Given the description of an element on the screen output the (x, y) to click on. 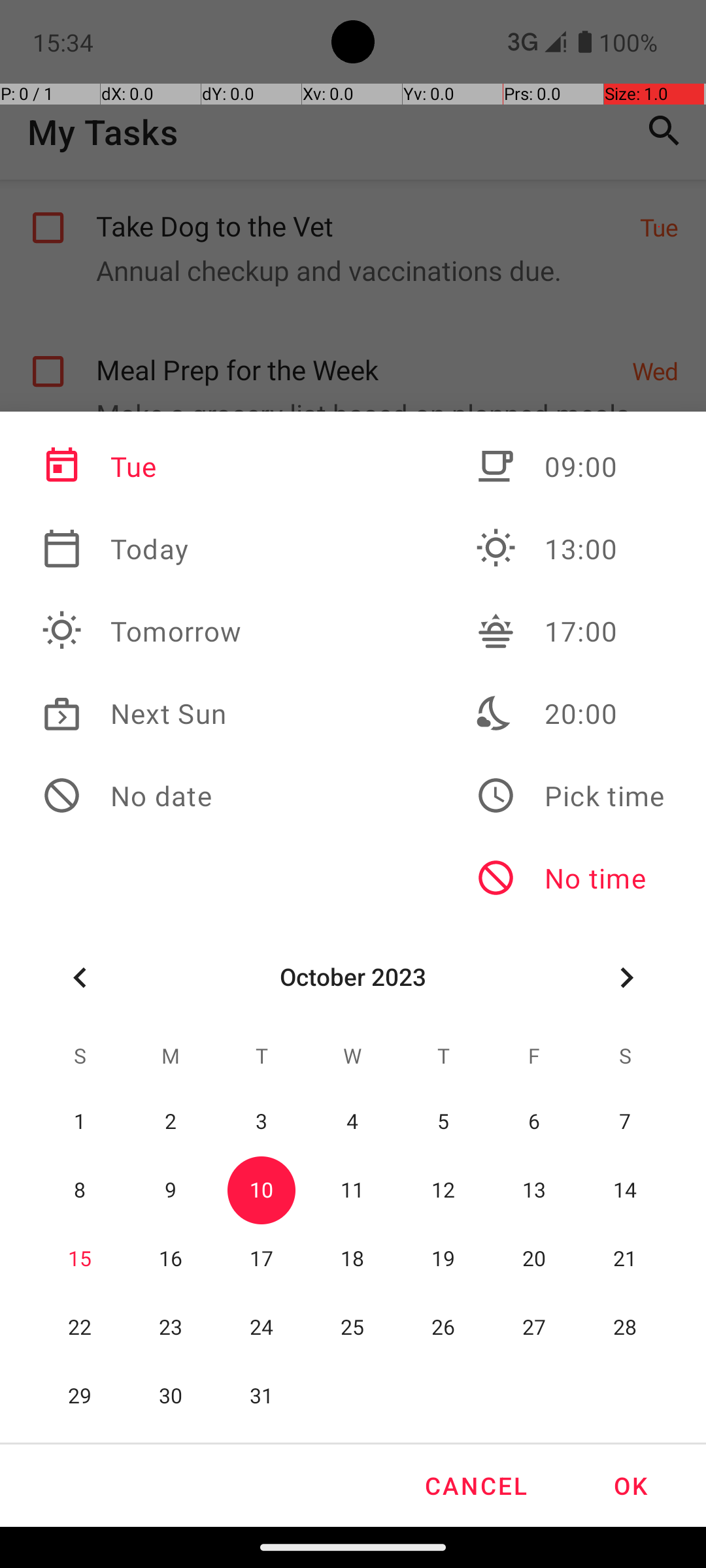
Tue Element type: android.widget.CompoundButton (141, 466)
Tomorrow Element type: android.widget.CompoundButton (141, 630)
Next Sun Element type: android.widget.CompoundButton (141, 713)
No date Element type: android.widget.CompoundButton (141, 795)
20:00 Element type: android.widget.CompoundButton (569, 713)
No time Element type: android.widget.CompoundButton (569, 877)
